Given the description of an element on the screen output the (x, y) to click on. 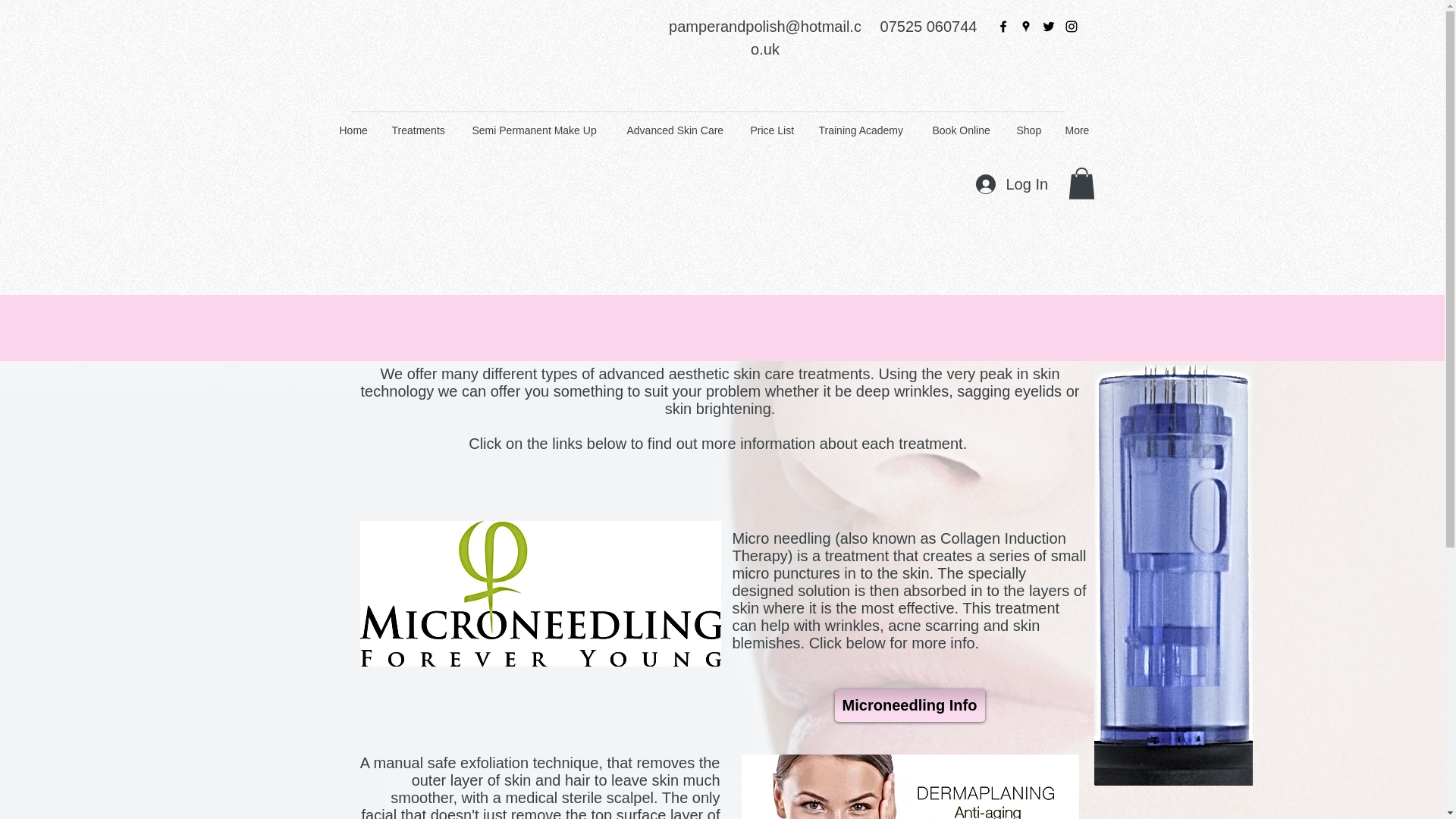
Home (353, 130)
Training Academy (863, 130)
Advanced Skin Care (677, 130)
Semi Permanent Make Up (538, 130)
Price List (772, 130)
